Given the description of an element on the screen output the (x, y) to click on. 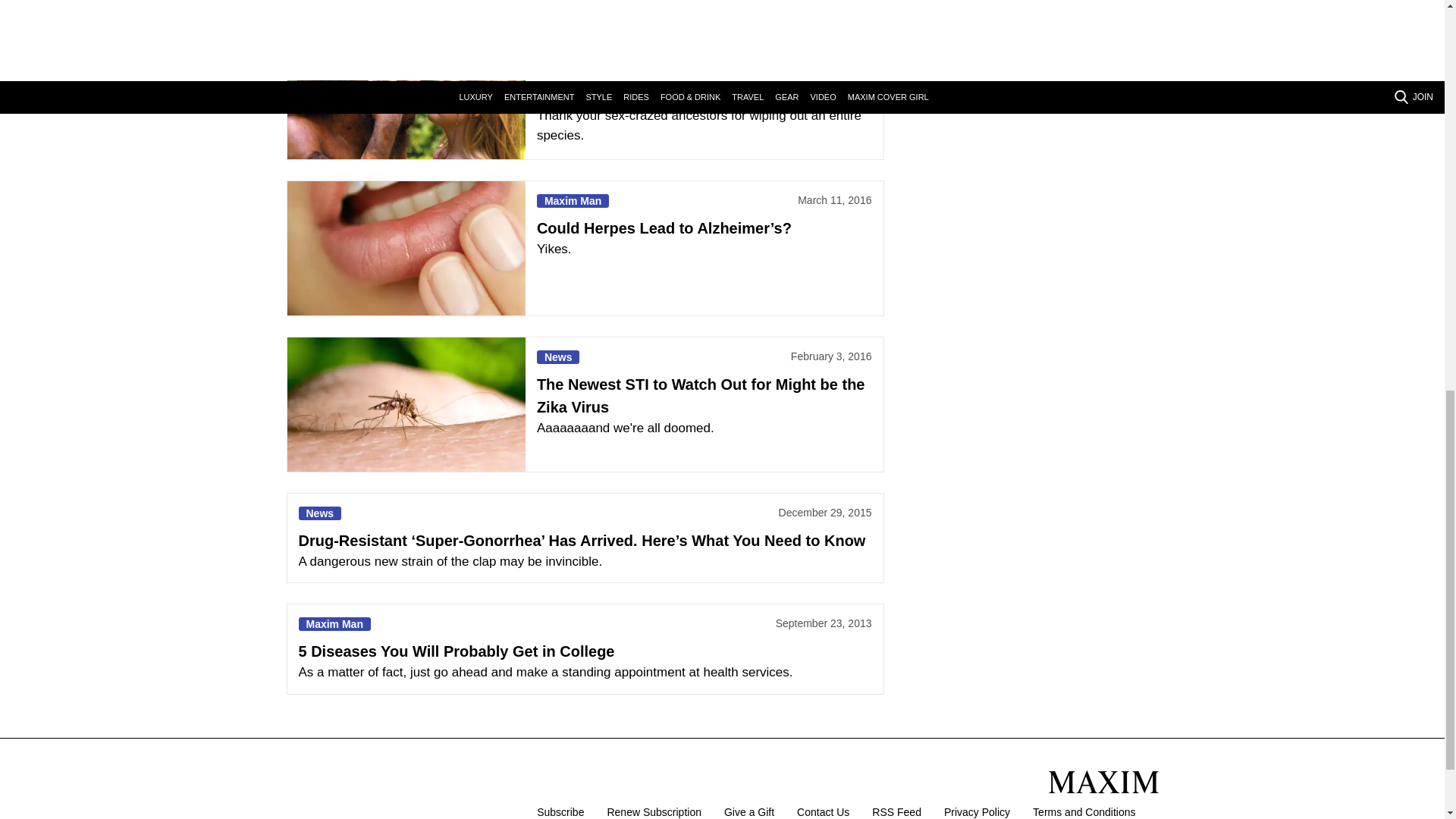
The Newest STI to Watch Out for Might be the Zika Virus (405, 404)
